Given the description of an element on the screen output the (x, y) to click on. 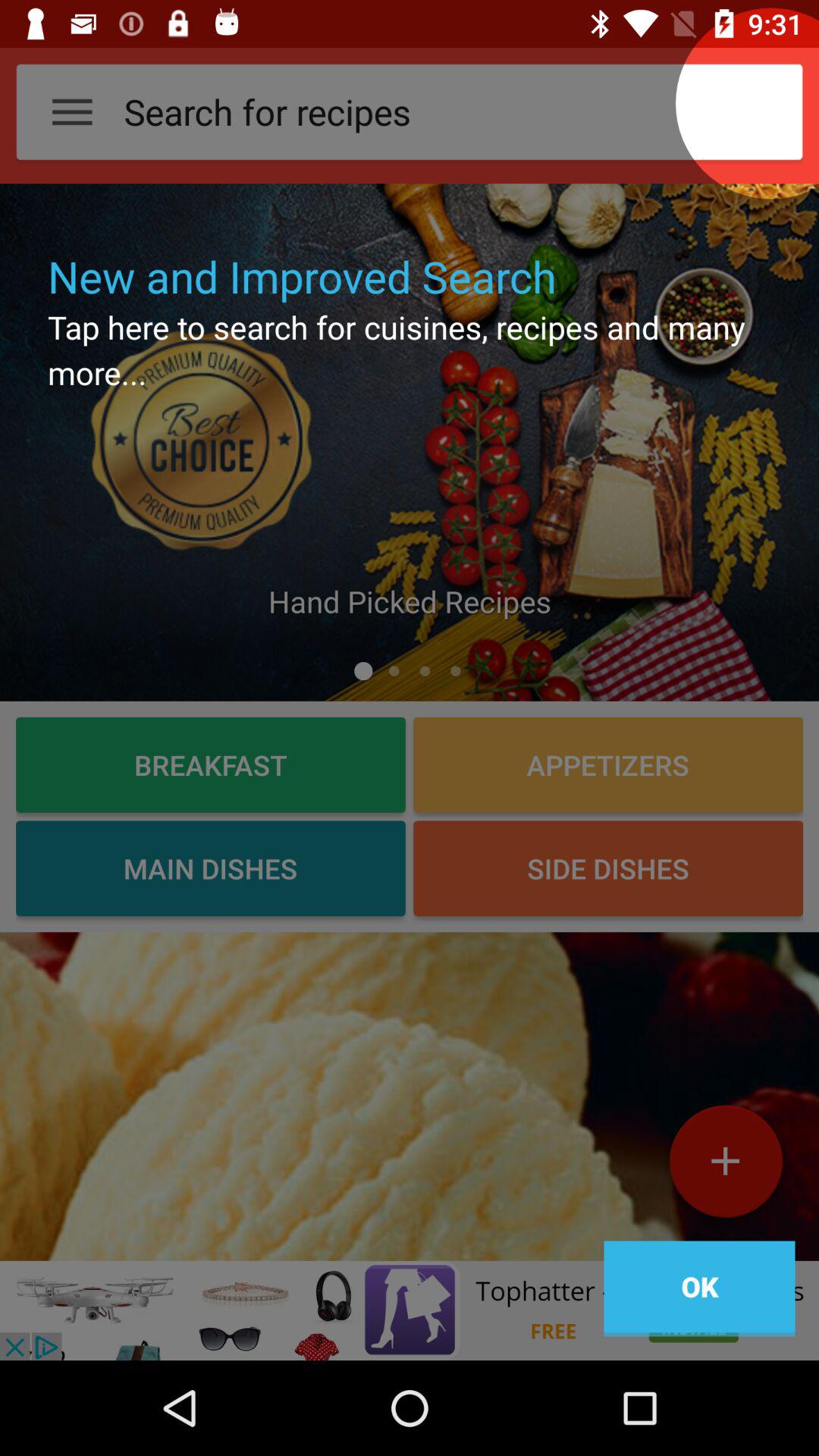
advertisement image (409, 1310)
